Given the description of an element on the screen output the (x, y) to click on. 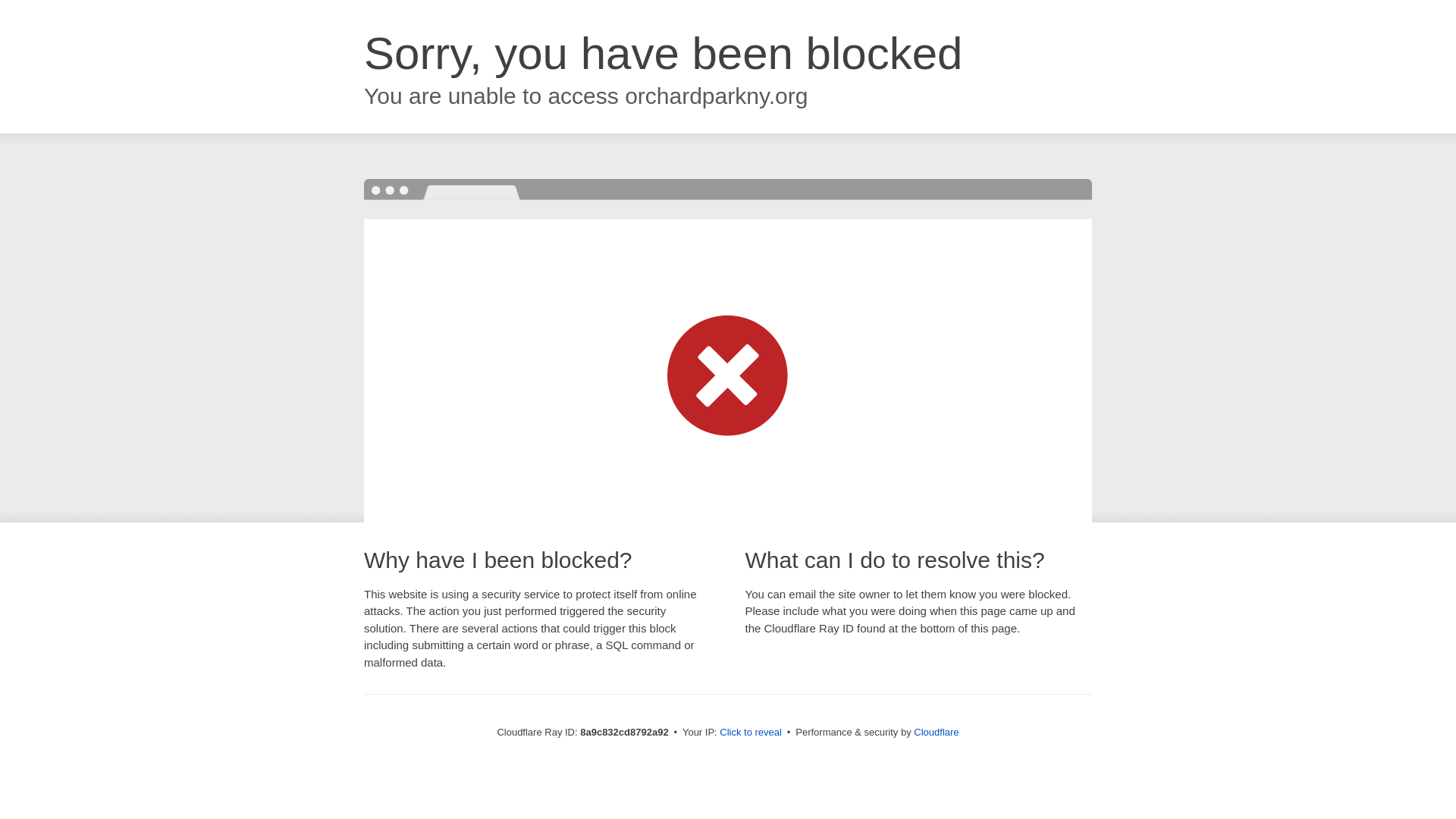
Cloudflare (936, 731)
Click to reveal (750, 732)
